Given the description of an element on the screen output the (x, y) to click on. 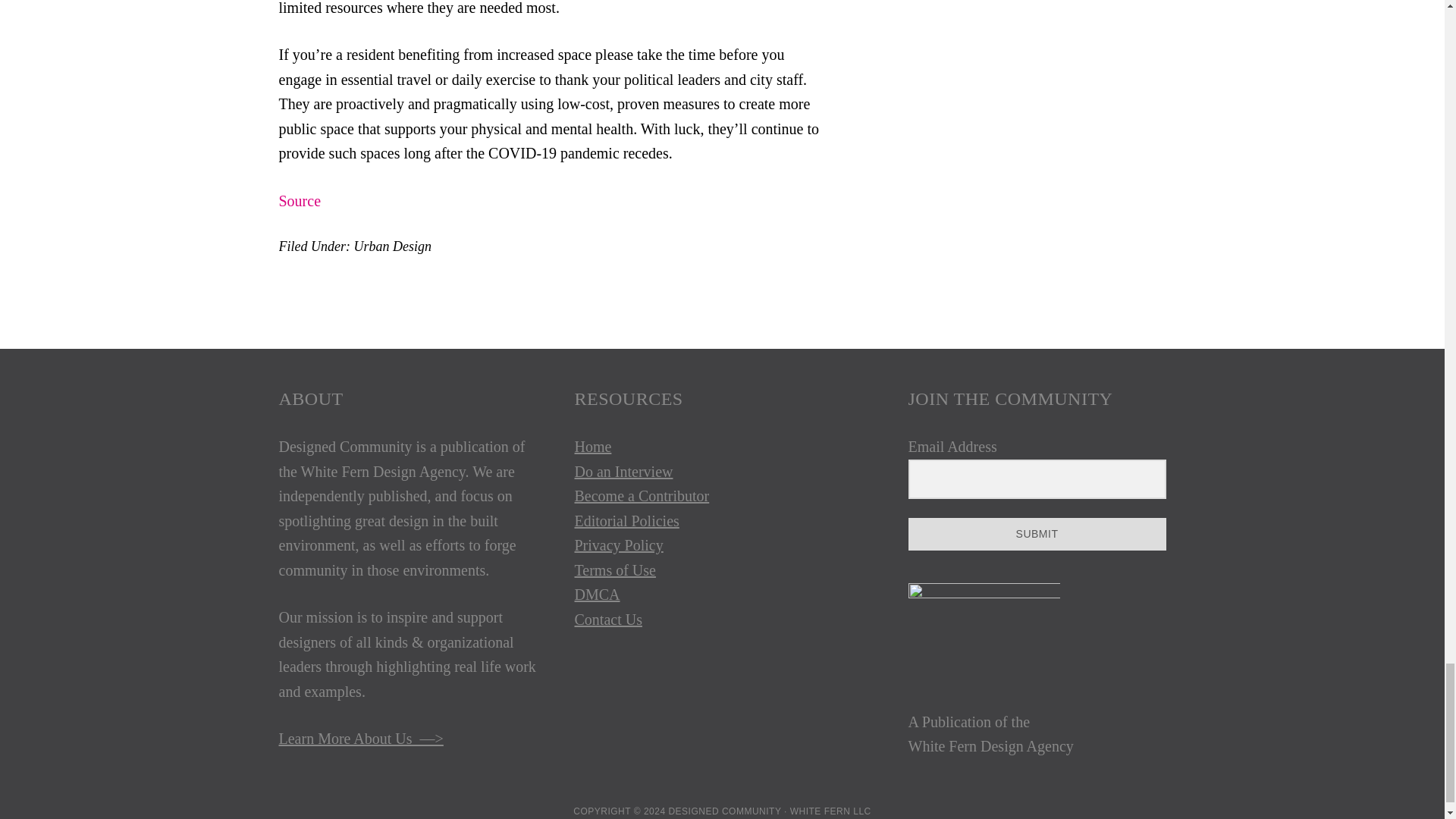
Source (300, 200)
Become a Contributor (642, 495)
Home (593, 446)
SUBMIT (1037, 533)
Terms of Use (615, 569)
Contact Us (608, 619)
Urban Design (391, 246)
Privacy Policy (619, 545)
Editorial Policies (627, 520)
Do an Interview (623, 471)
DMCA (597, 594)
White Fern Design Agency (991, 745)
